Given the description of an element on the screen output the (x, y) to click on. 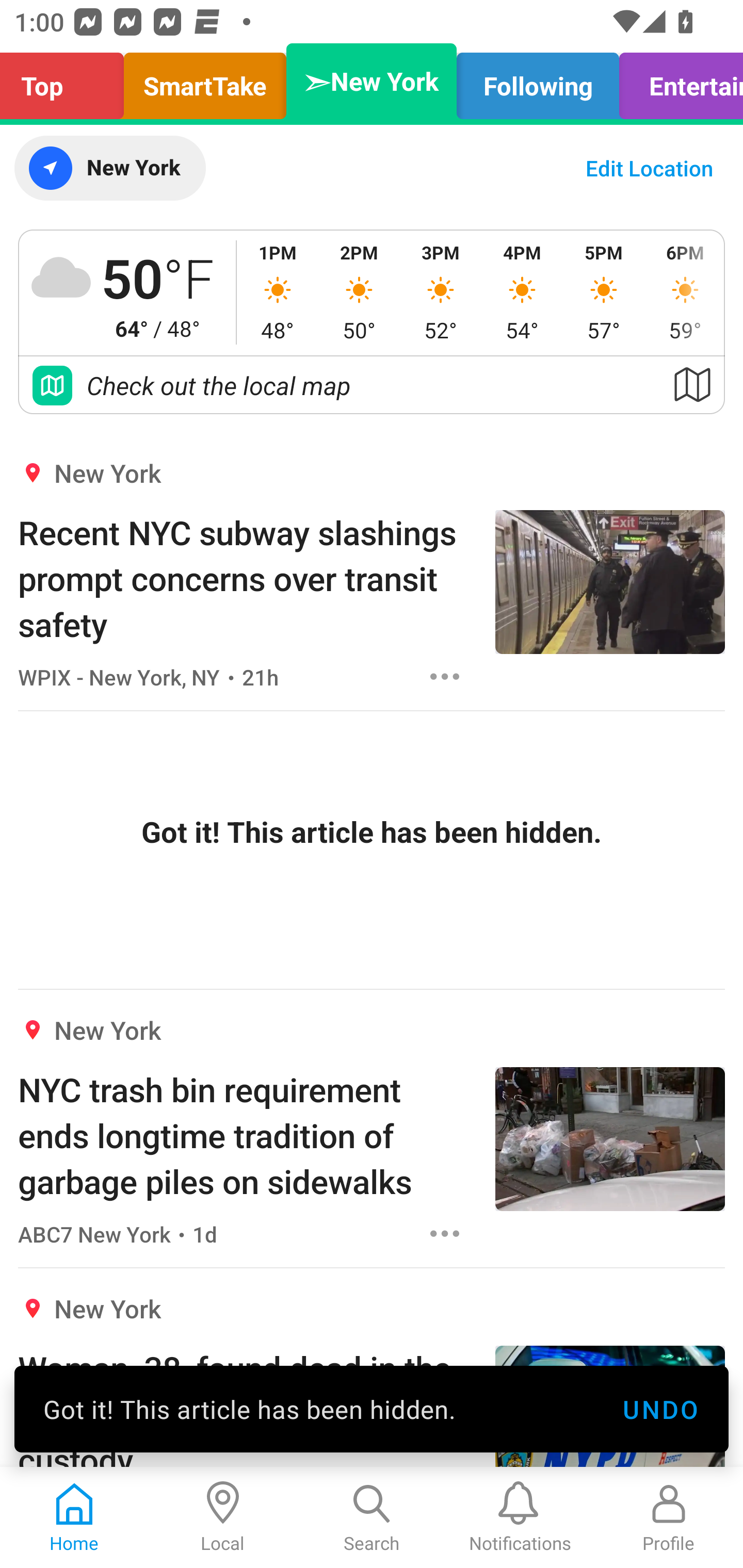
Top (67, 81)
SmartTake (204, 81)
➣New York (371, 81)
Following (537, 81)
New York (109, 168)
Edit Location (648, 168)
1PM 48° (277, 291)
2PM 50° (358, 291)
3PM 52° (440, 291)
4PM 54° (522, 291)
5PM 57° (603, 291)
6PM 59° (684, 291)
Check out the local map (371, 384)
Options (444, 676)
Options (444, 1233)
UNDO (660, 1408)
Local (222, 1517)
Search (371, 1517)
Notifications (519, 1517)
Profile (668, 1517)
